Given the description of an element on the screen output the (x, y) to click on. 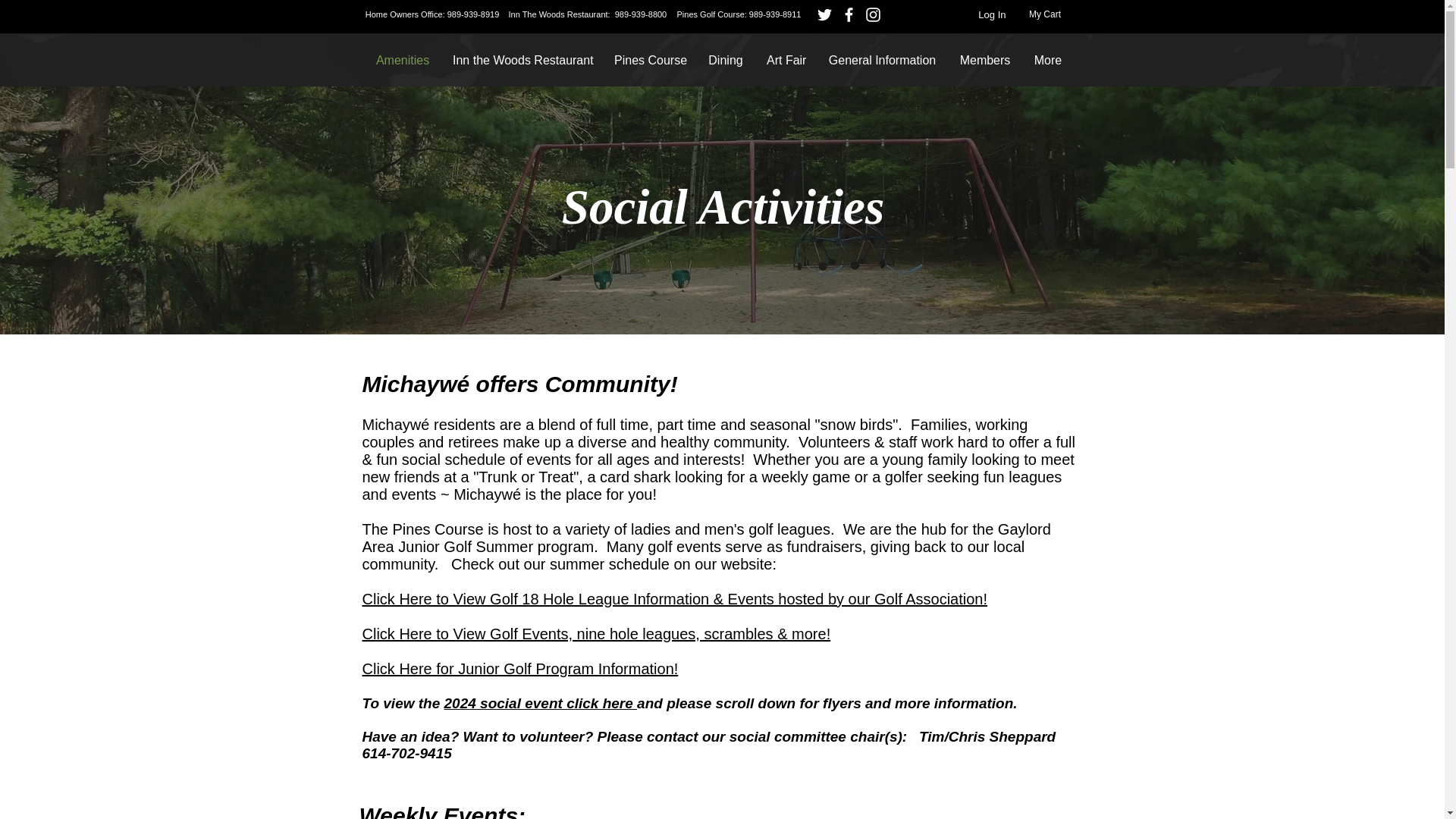
Home Owners Office: 989-939-8919 (431, 14)
Click Here for Junior Golf Program Information! (520, 668)
Inn The Woods Restaurant:  989-939-8800  (588, 14)
2024 social event click here (540, 703)
General Information (881, 60)
Members (984, 60)
Amenities (402, 60)
Pines Golf Course: 989-939-8911 (738, 14)
My Cart (1051, 14)
Log In (992, 15)
